Given the description of an element on the screen output the (x, y) to click on. 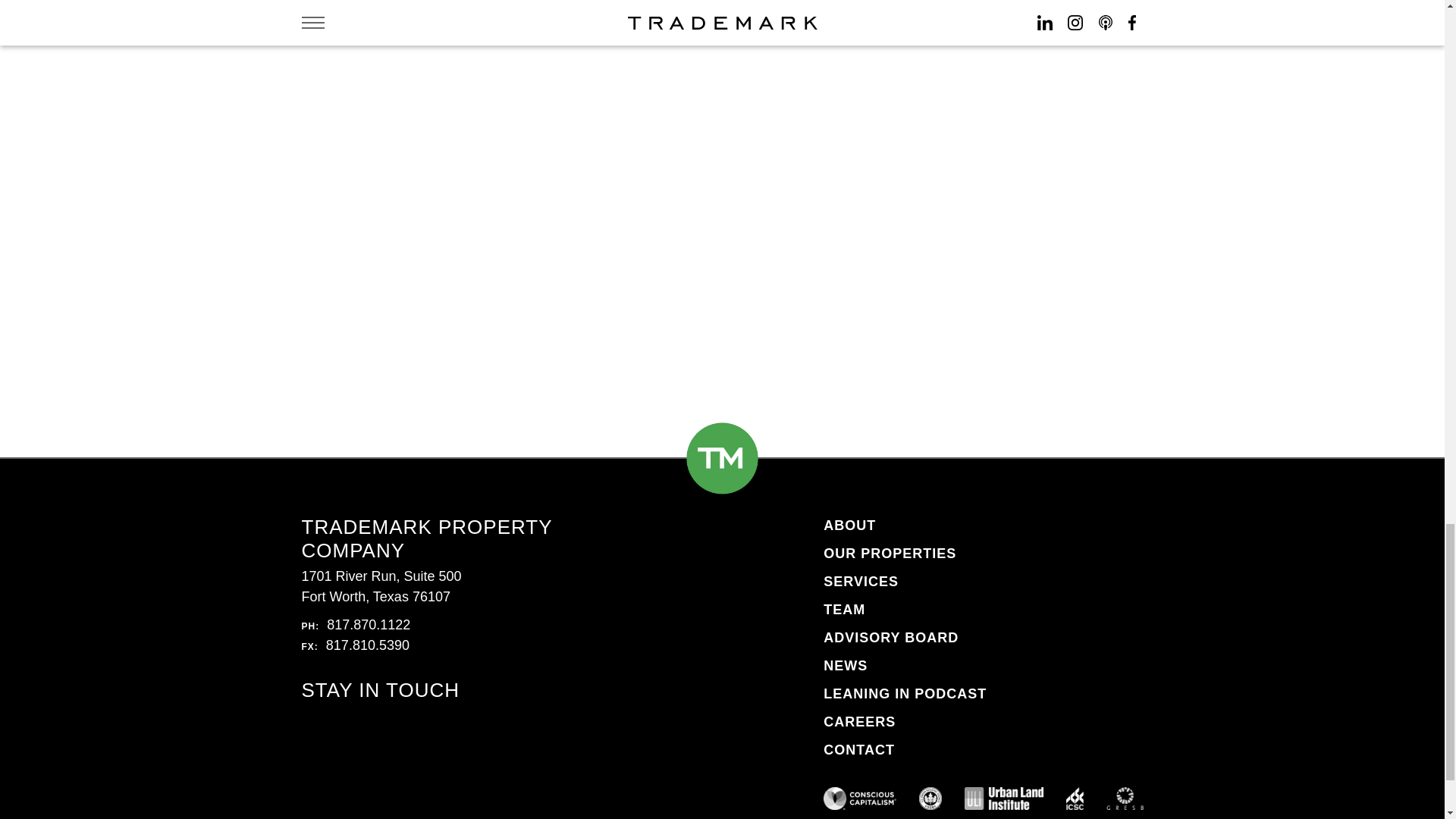
817.810.5390 (367, 645)
SERVICES (861, 581)
ADVISORY BOARD (891, 637)
OUR PROPERTIES (890, 553)
NEWS (845, 665)
CONTACT (859, 749)
LEANING IN PODCAST (905, 693)
CAREERS (859, 721)
817.870.1122 (368, 624)
ABOUT (850, 525)
